Given the description of an element on the screen output the (x, y) to click on. 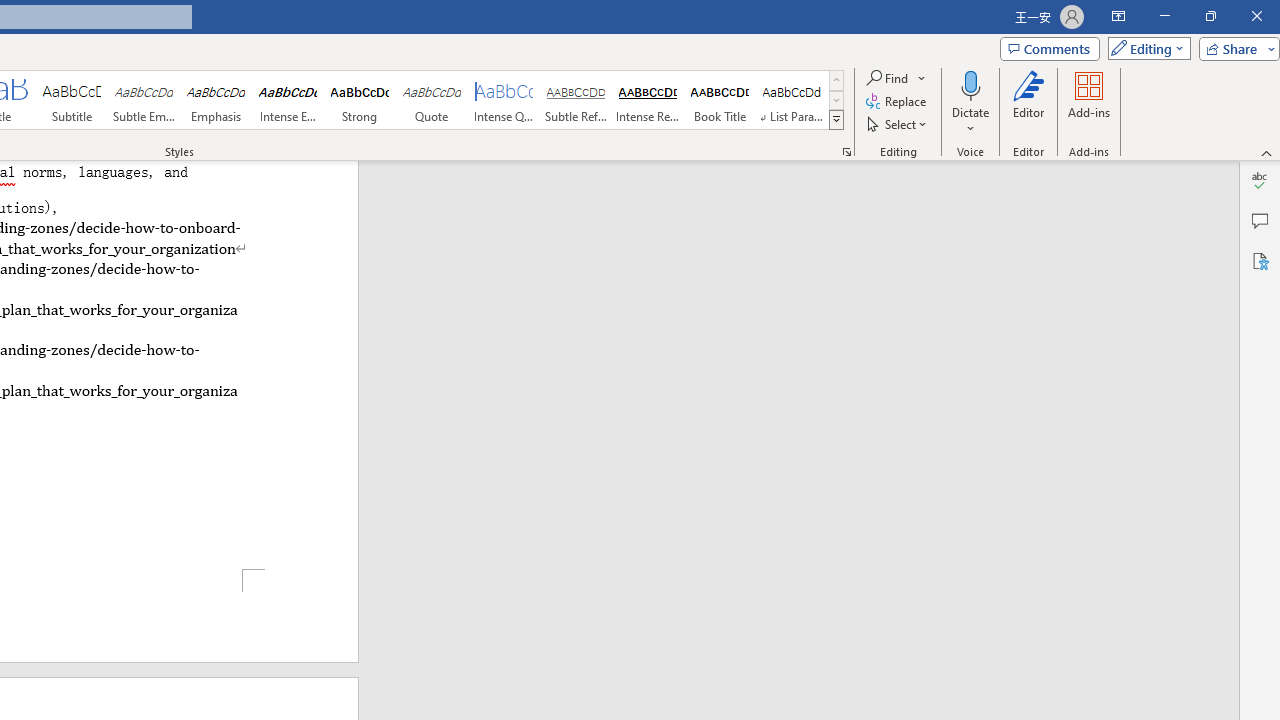
Subtitle (71, 100)
Intense Reference (647, 100)
Strong (359, 100)
Row up (836, 79)
Replace... (897, 101)
Select (898, 124)
